Given the description of an element on the screen output the (x, y) to click on. 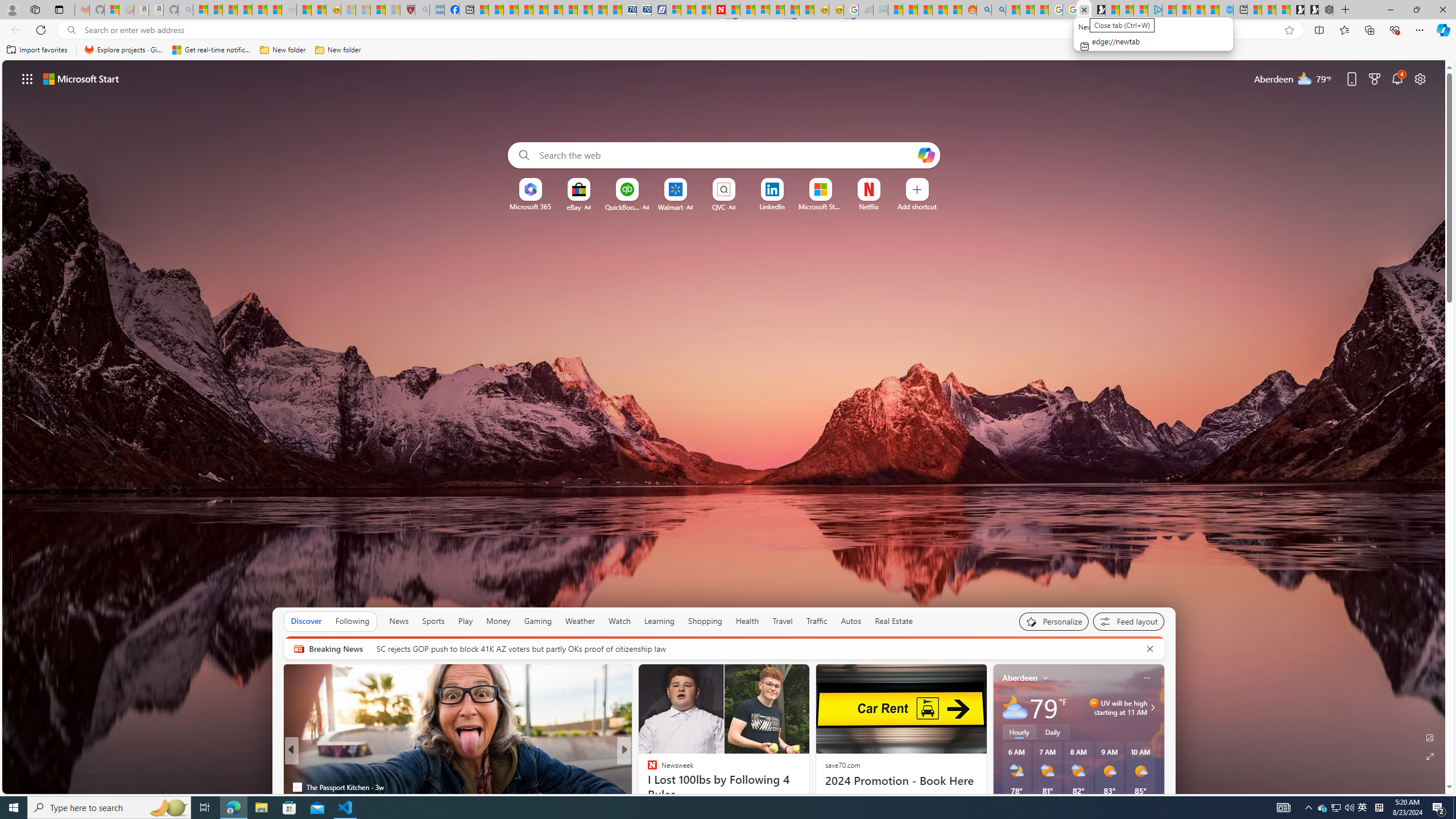
Microsoft rewards (1374, 78)
Travel (782, 621)
Add a site (916, 206)
Shopping (705, 621)
Class: weather-arrow-glyph (1152, 707)
Newsweek - News, Analysis, Politics, Business, Technology (718, 9)
Komando (647, 768)
INSIDER (647, 768)
Science - MSN (377, 9)
Inquirer (647, 786)
Nordace (655, 786)
14 Common Myths Debunked By Scientific Facts (747, 9)
Play Free Online Games | Games from Microsoft Start (1311, 9)
